Given the description of an element on the screen output the (x, y) to click on. 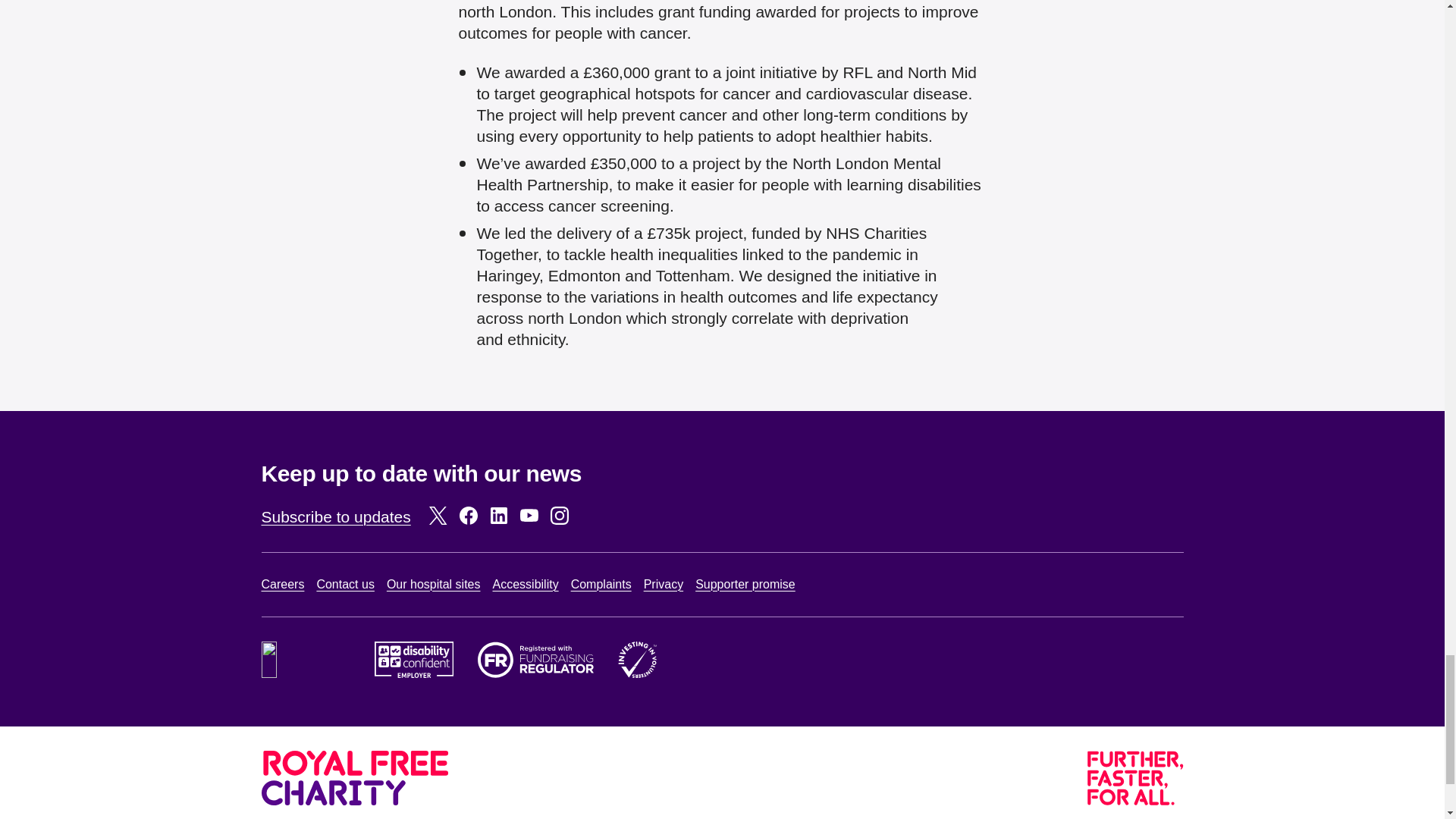
Further, Faster, For All. (1135, 778)
Royal Free Charity (354, 778)
Subscribe to updates (335, 516)
